Given the description of an element on the screen output the (x, y) to click on. 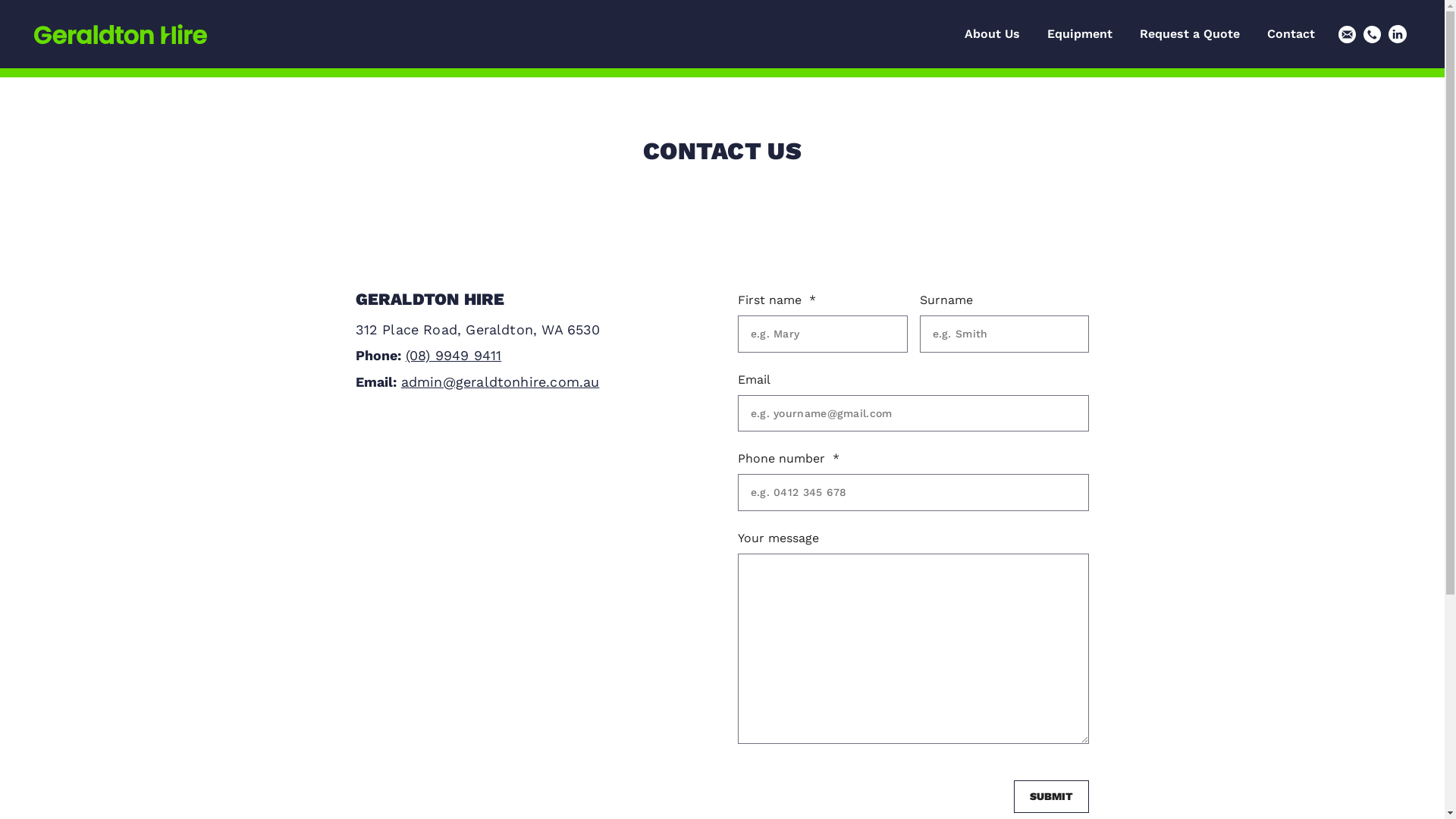
Skip to content Element type: text (0, 0)
(08) 9949 9411 Element type: text (453, 355)
Equipment Element type: text (1079, 34)
Contact Element type: text (1290, 34)
Geraldton Hire Element type: hover (120, 33)
Submit Element type: text (1051, 795)
Request a Quote Element type: text (1189, 34)
admin@geraldtonhire.com.au Element type: text (500, 381)
About Us Element type: text (992, 34)
